Given the description of an element on the screen output the (x, y) to click on. 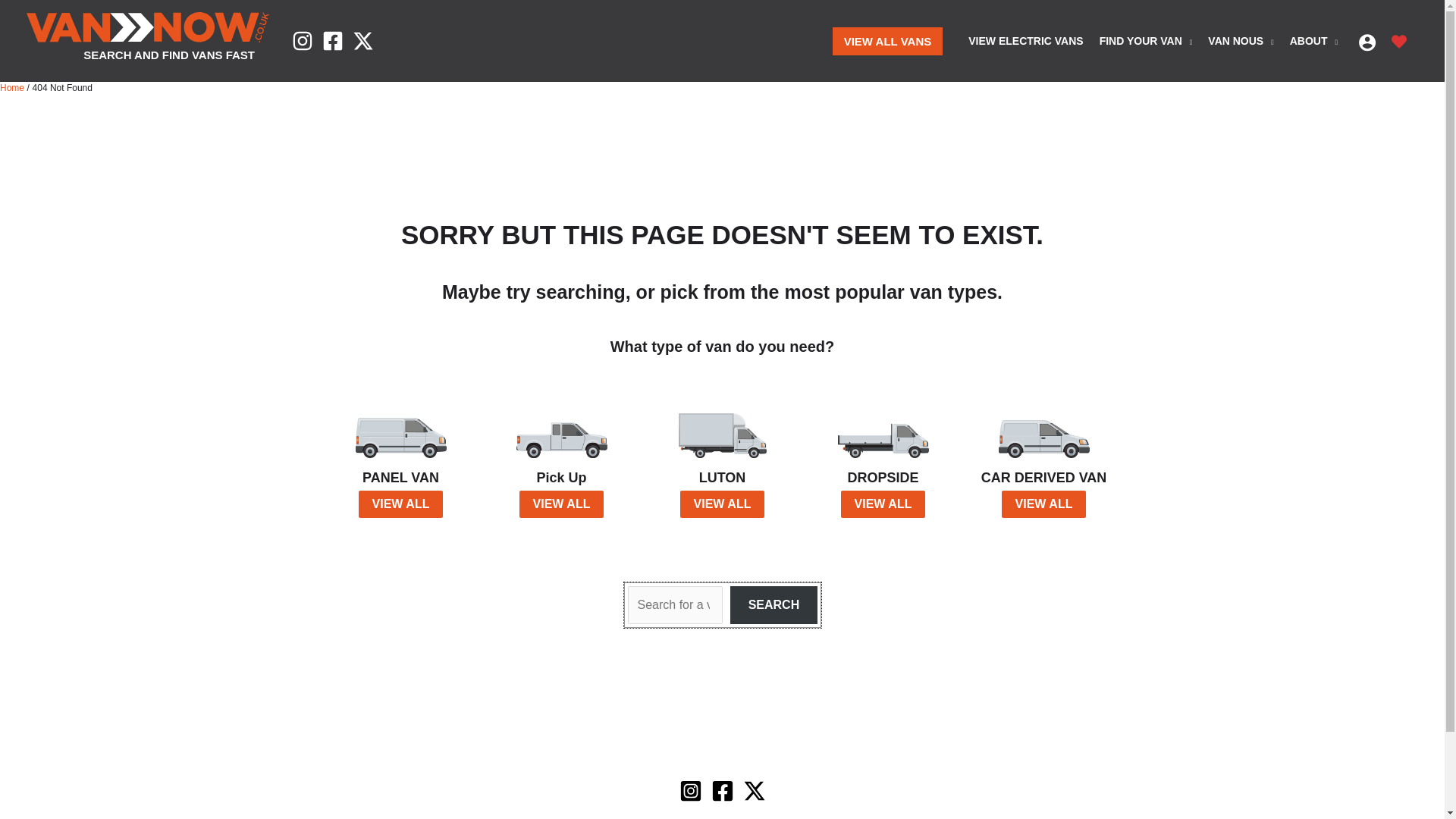
Home (12, 87)
FIND YOUR VAN (1143, 40)
VAN NOUS (1237, 40)
VIEW ELECTRIC VANS (1022, 40)
VIEW ALL VANS (887, 41)
ABOUT (1310, 40)
